Given the description of an element on the screen output the (x, y) to click on. 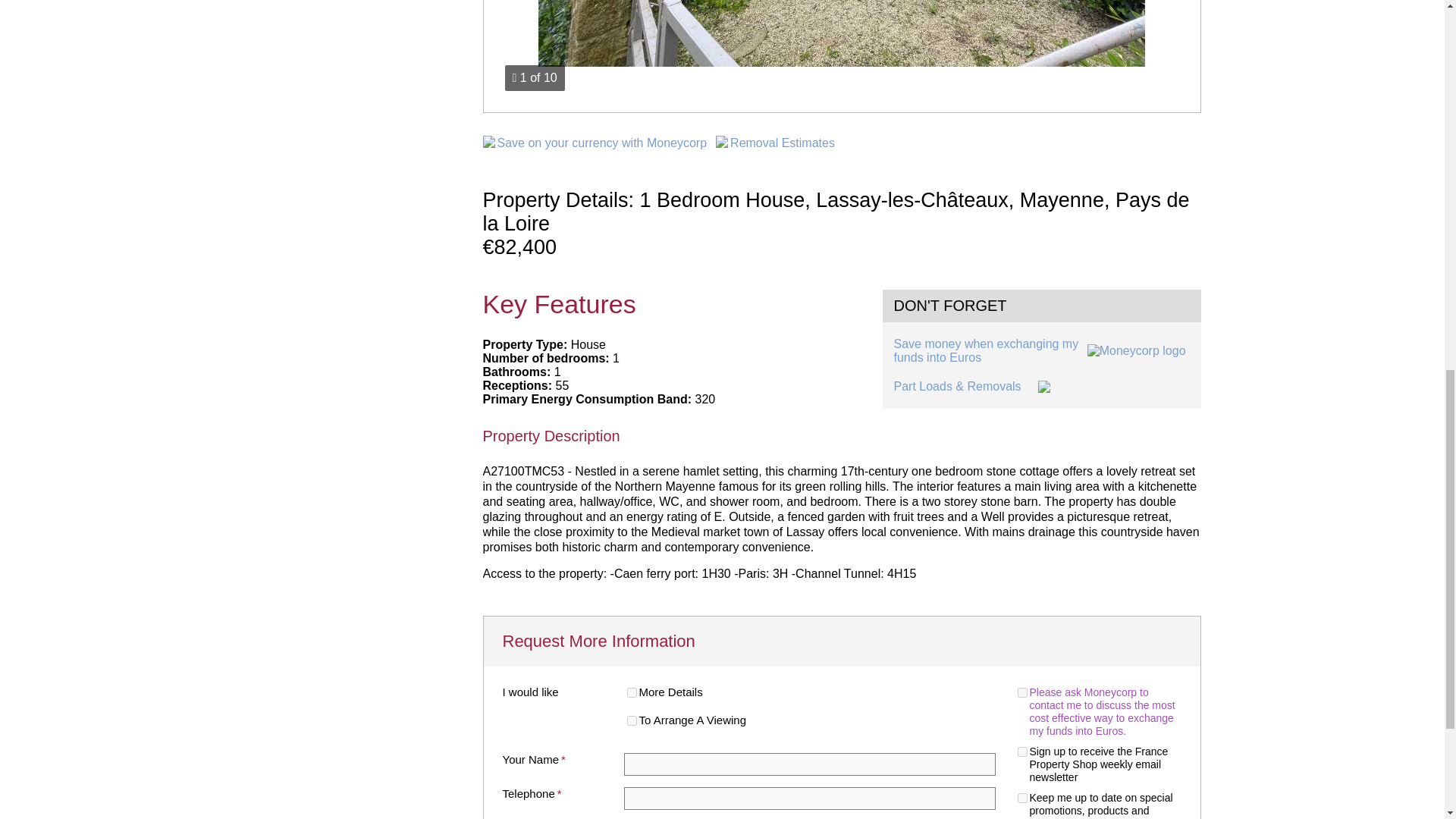
y (1022, 798)
y (631, 720)
y (1022, 692)
Save money when exchanging my funds into Euros (1041, 351)
y (1022, 751)
Removal Estimates (782, 142)
Save on your currency with Moneycorp (602, 142)
y (631, 692)
